Given the description of an element on the screen output the (x, y) to click on. 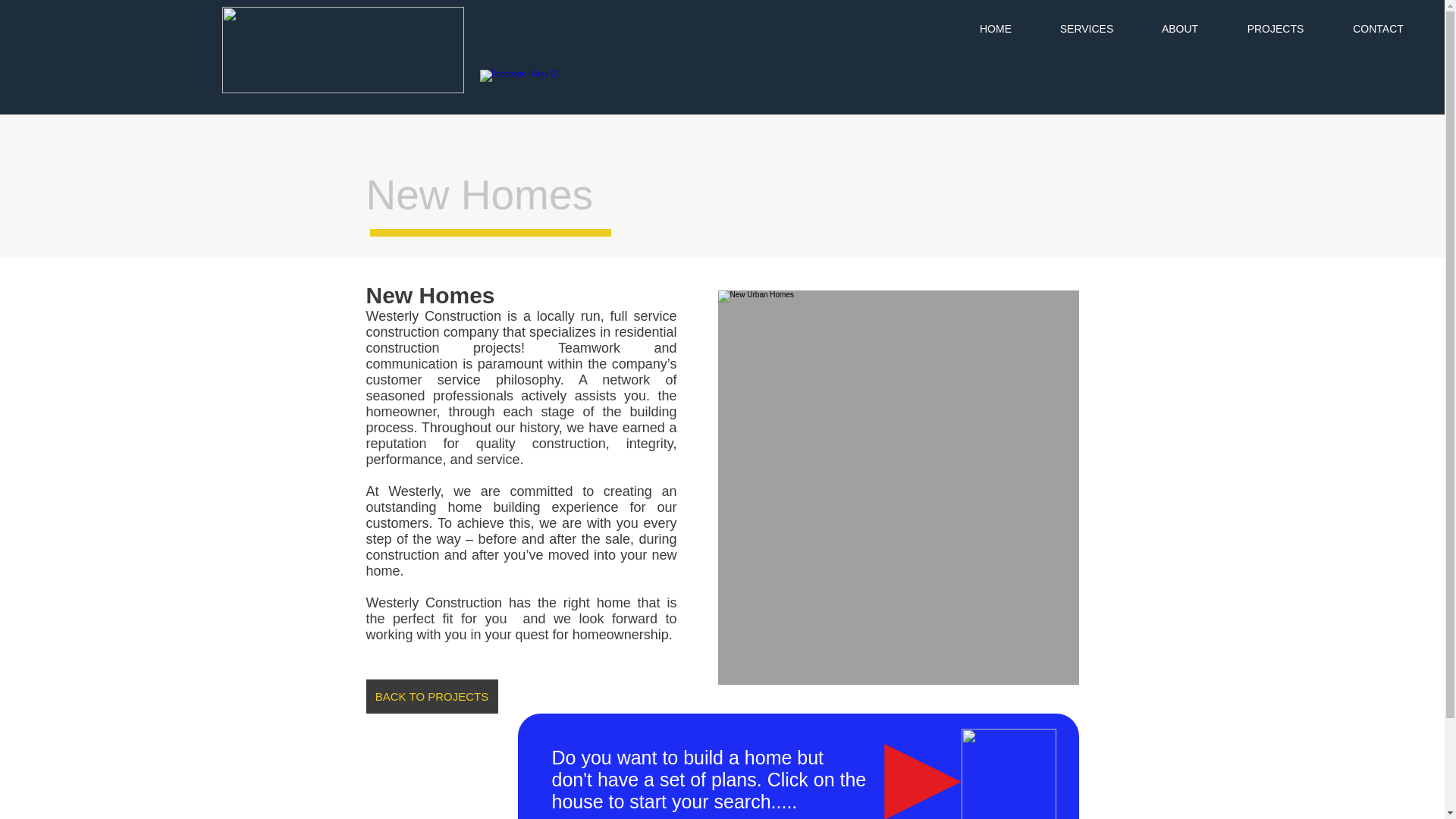
BACK TO PROJECTS (431, 696)
HOME (994, 29)
SERVICES (1085, 29)
PROJECTS (1275, 29)
ABOUT (1179, 29)
CONTACT (1377, 29)
